Given the description of an element on the screen output the (x, y) to click on. 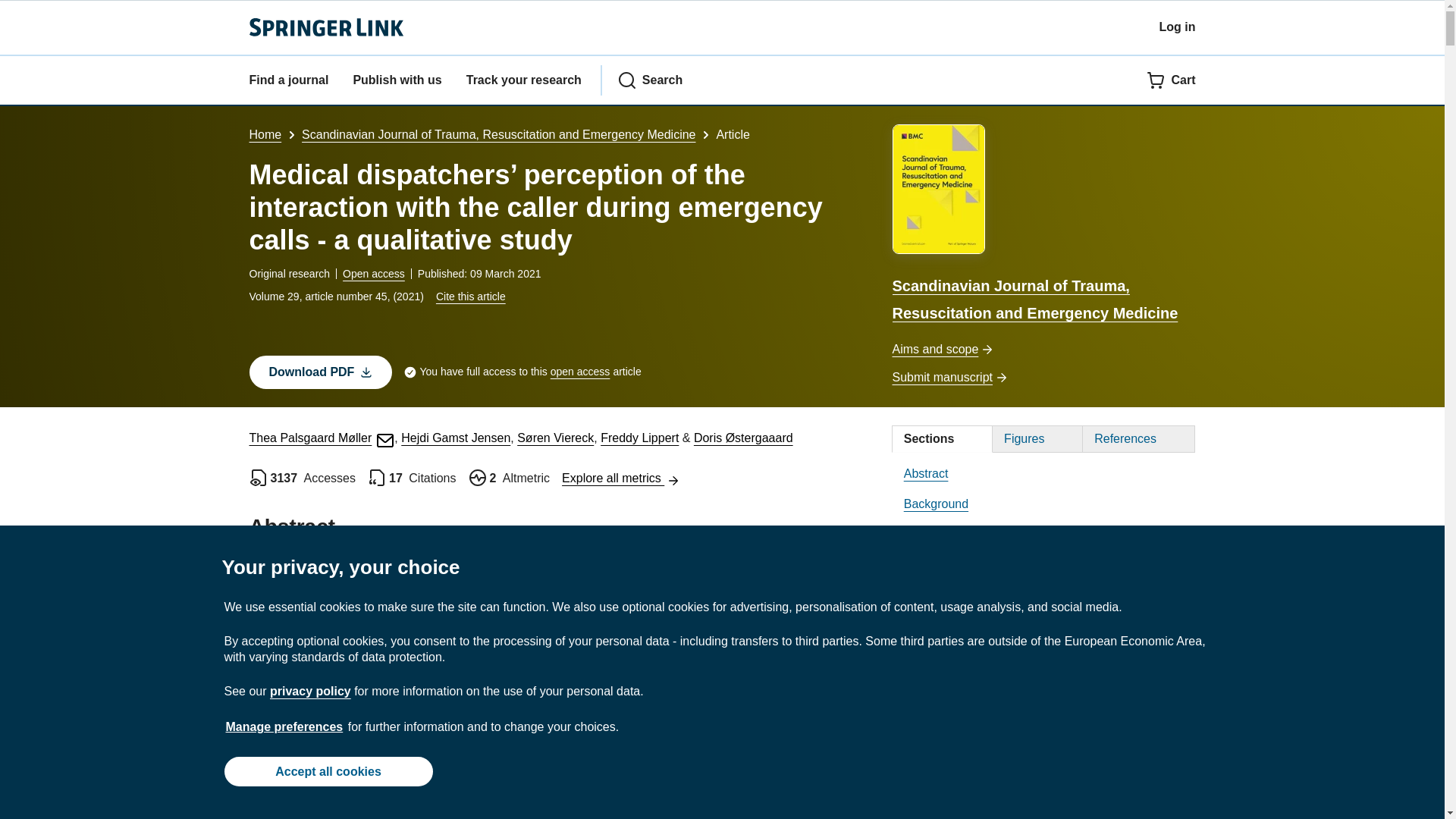
open access (580, 371)
Cart (1170, 79)
Hejdi Gamst Jensen (456, 437)
Home (264, 133)
Accept all cookies (328, 771)
privacy policy (309, 690)
Manage preferences (284, 726)
Publish with us (396, 79)
